Given the description of an element on the screen output the (x, y) to click on. 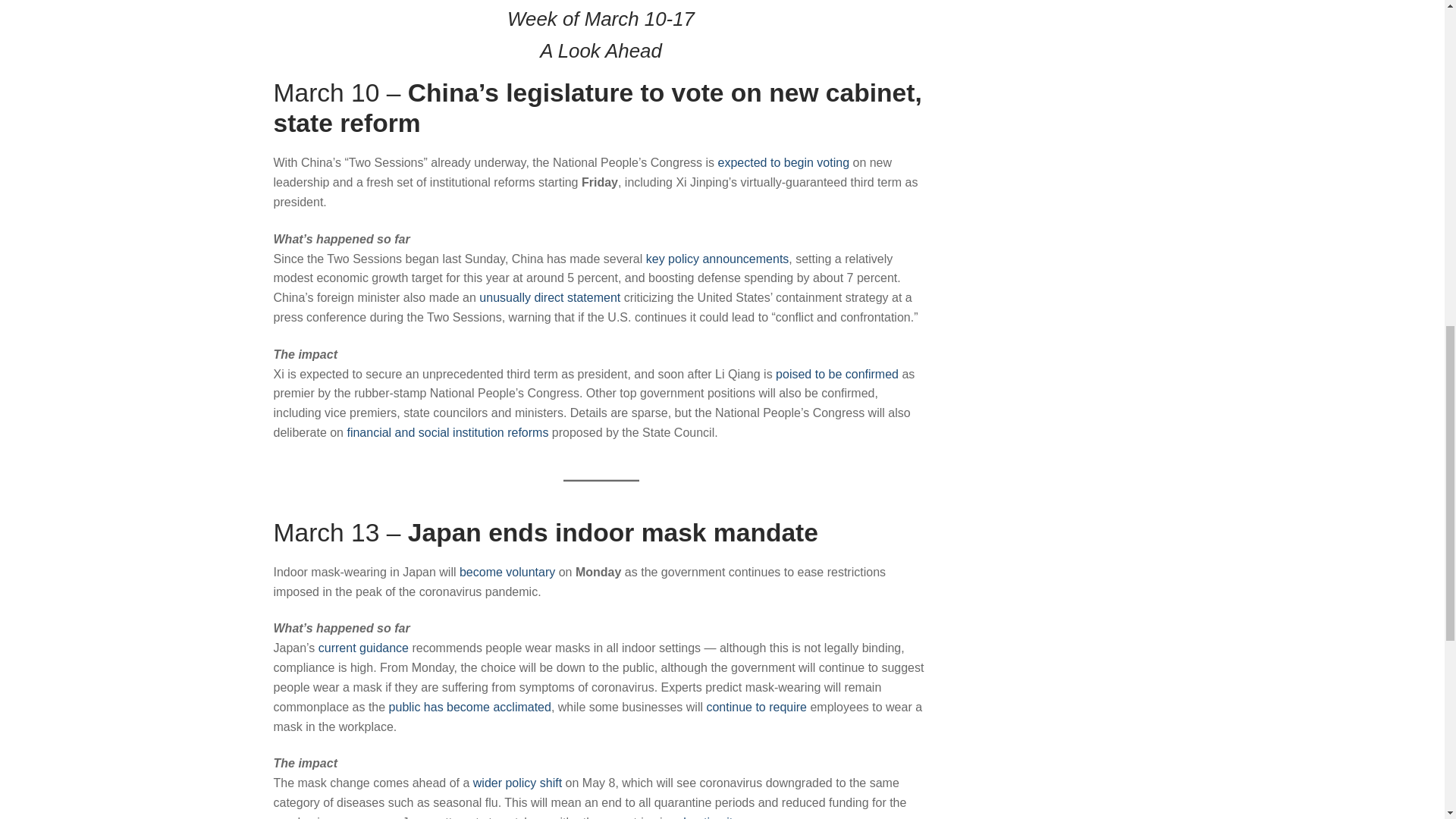
expected to begin voting (782, 162)
